Given the description of an element on the screen output the (x, y) to click on. 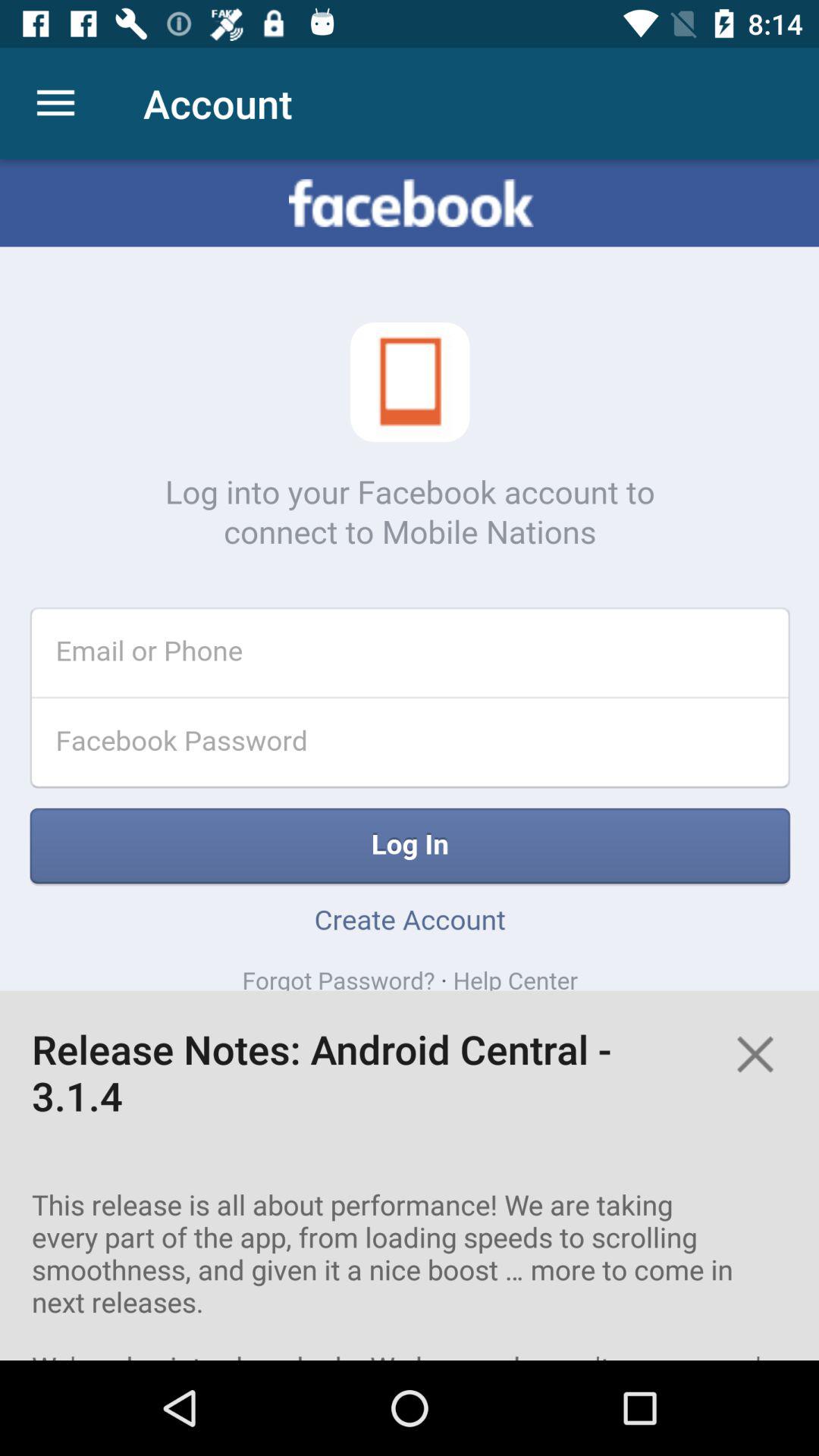
exit out (755, 1054)
